Given the description of an element on the screen output the (x, y) to click on. 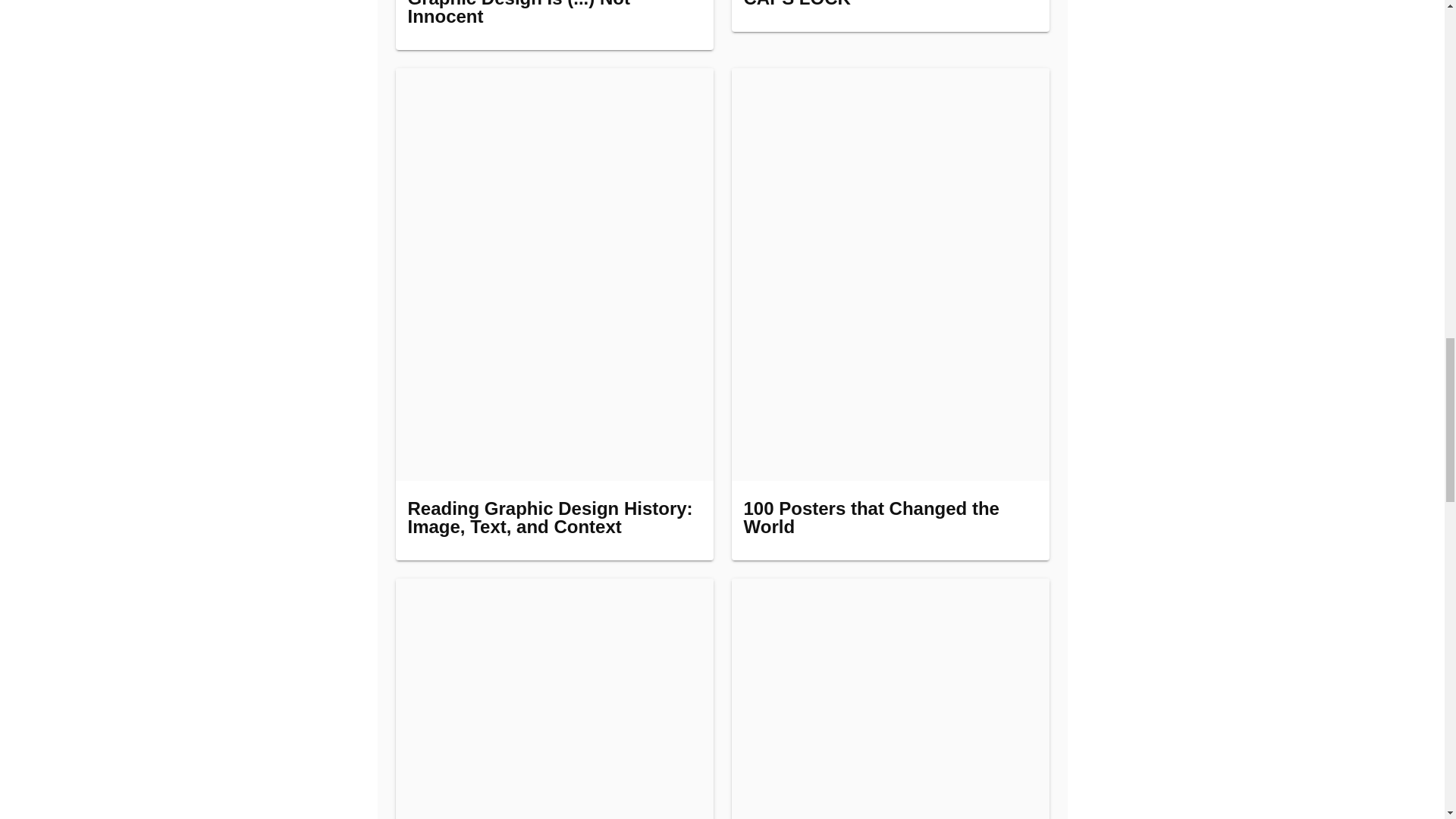
Behind the Album (554, 698)
CAPS LOCK (889, 15)
